Given the description of an element on the screen output the (x, y) to click on. 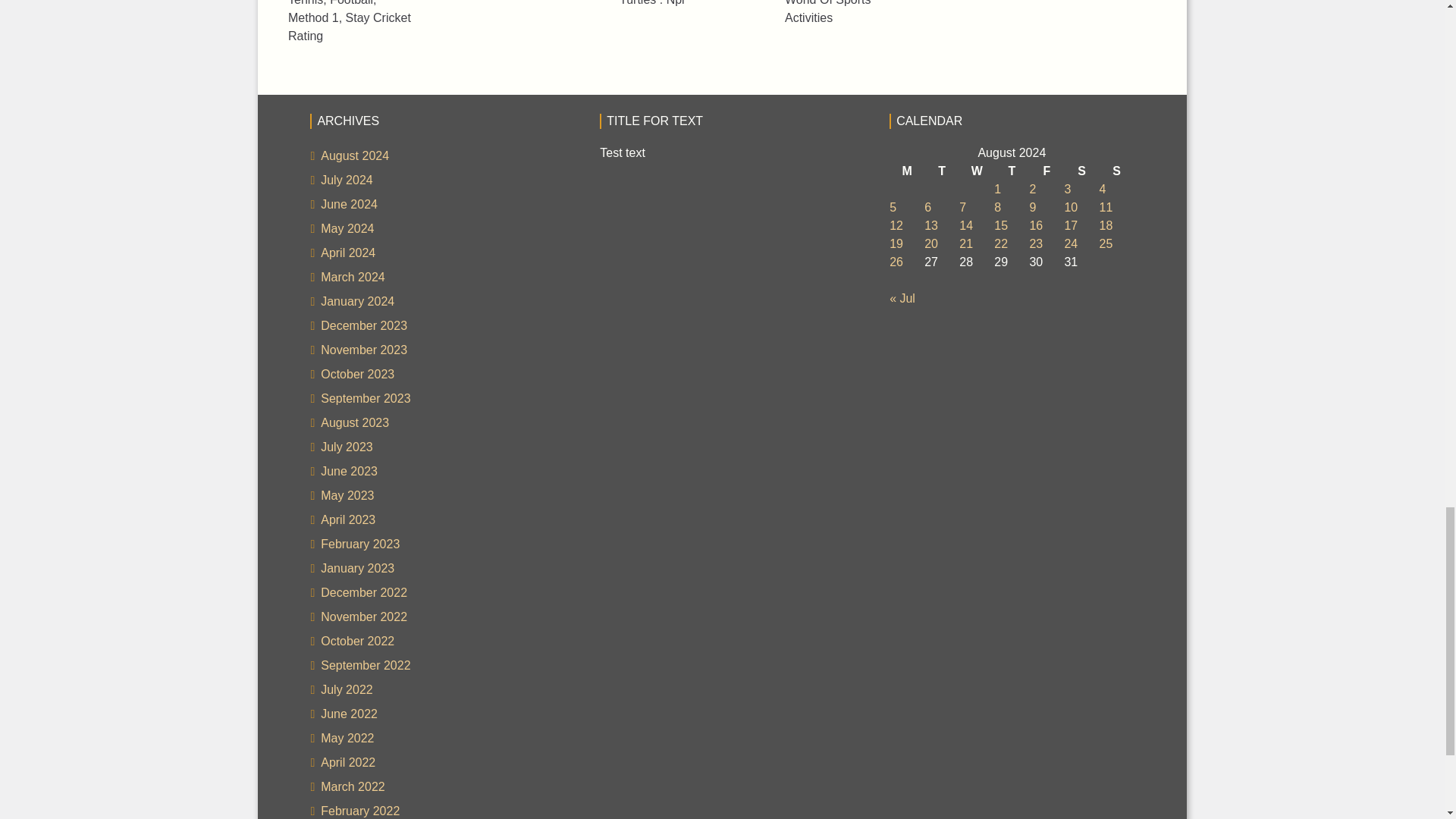
Thursday (1011, 171)
Tuesday (941, 171)
Monday (906, 171)
Wednesday (976, 171)
